Given the description of an element on the screen output the (x, y) to click on. 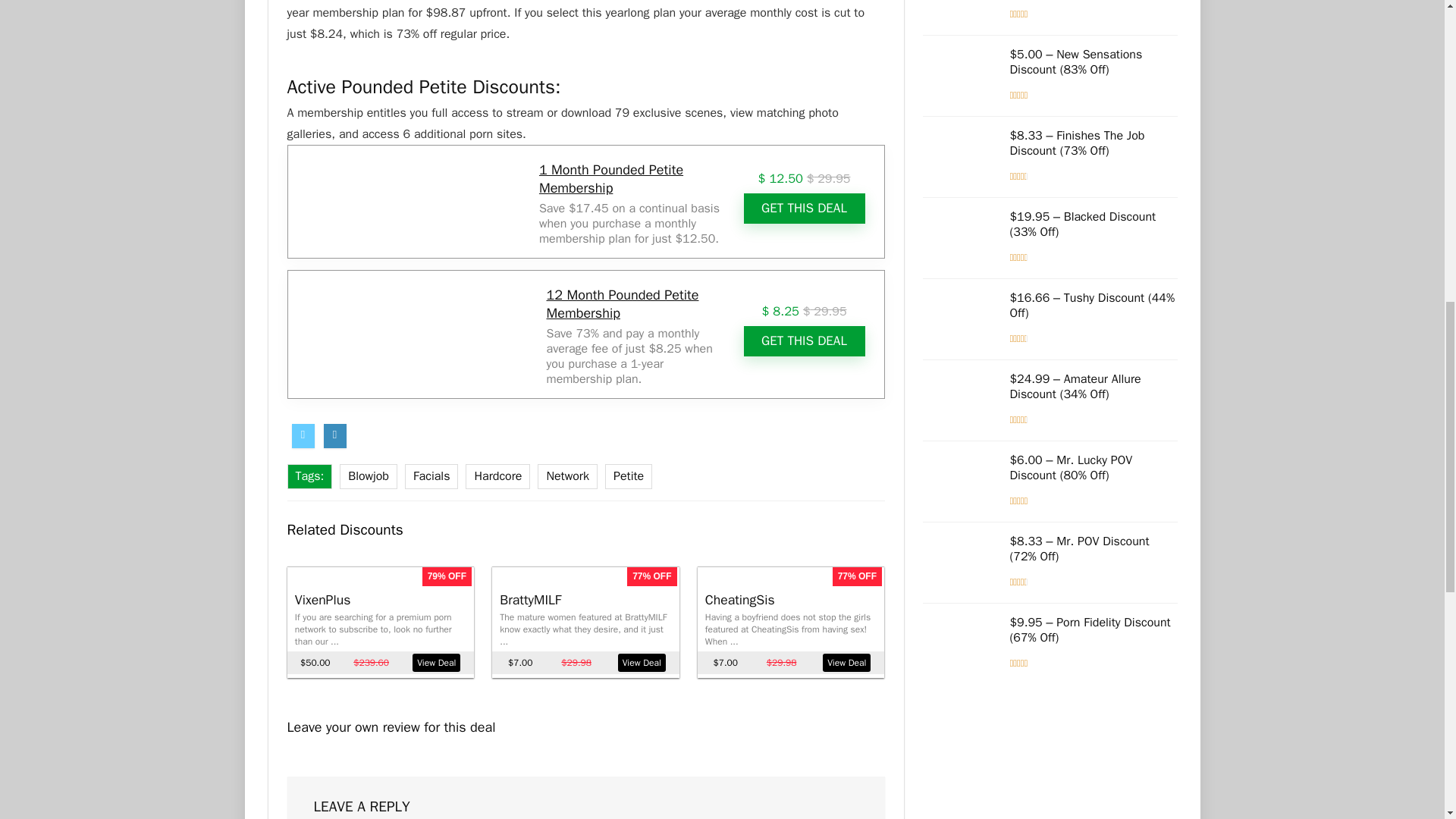
BrattyMILF (529, 599)
Hardcore (497, 476)
CheatingSis (739, 599)
View Deal (846, 662)
View Deal (436, 662)
View Deal (641, 662)
12 Month Pounded Petite Membership (622, 303)
Network (566, 476)
GET THIS DEAL (803, 208)
VixenPlus (322, 599)
